Given the description of an element on the screen output the (x, y) to click on. 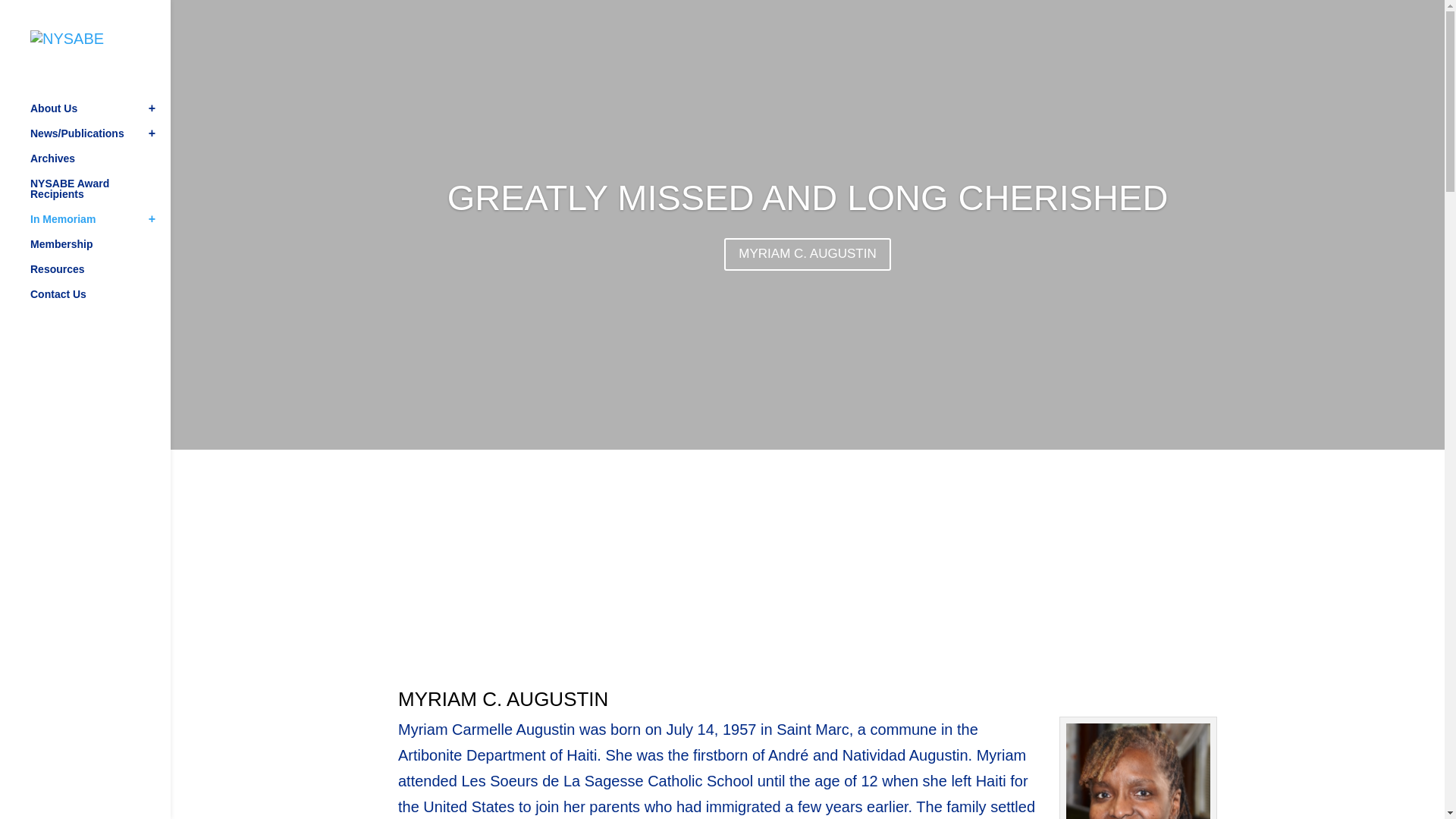
About Us (100, 115)
GREATLY MISSED AND LONG CHERISHED (807, 197)
Membership (100, 251)
NYSABE Award Recipients (100, 195)
In Memoriam (100, 226)
MYRIAM C. AUGUSTIN (806, 254)
Archives (100, 165)
Resources (100, 276)
Contact Us (100, 301)
